Given the description of an element on the screen output the (x, y) to click on. 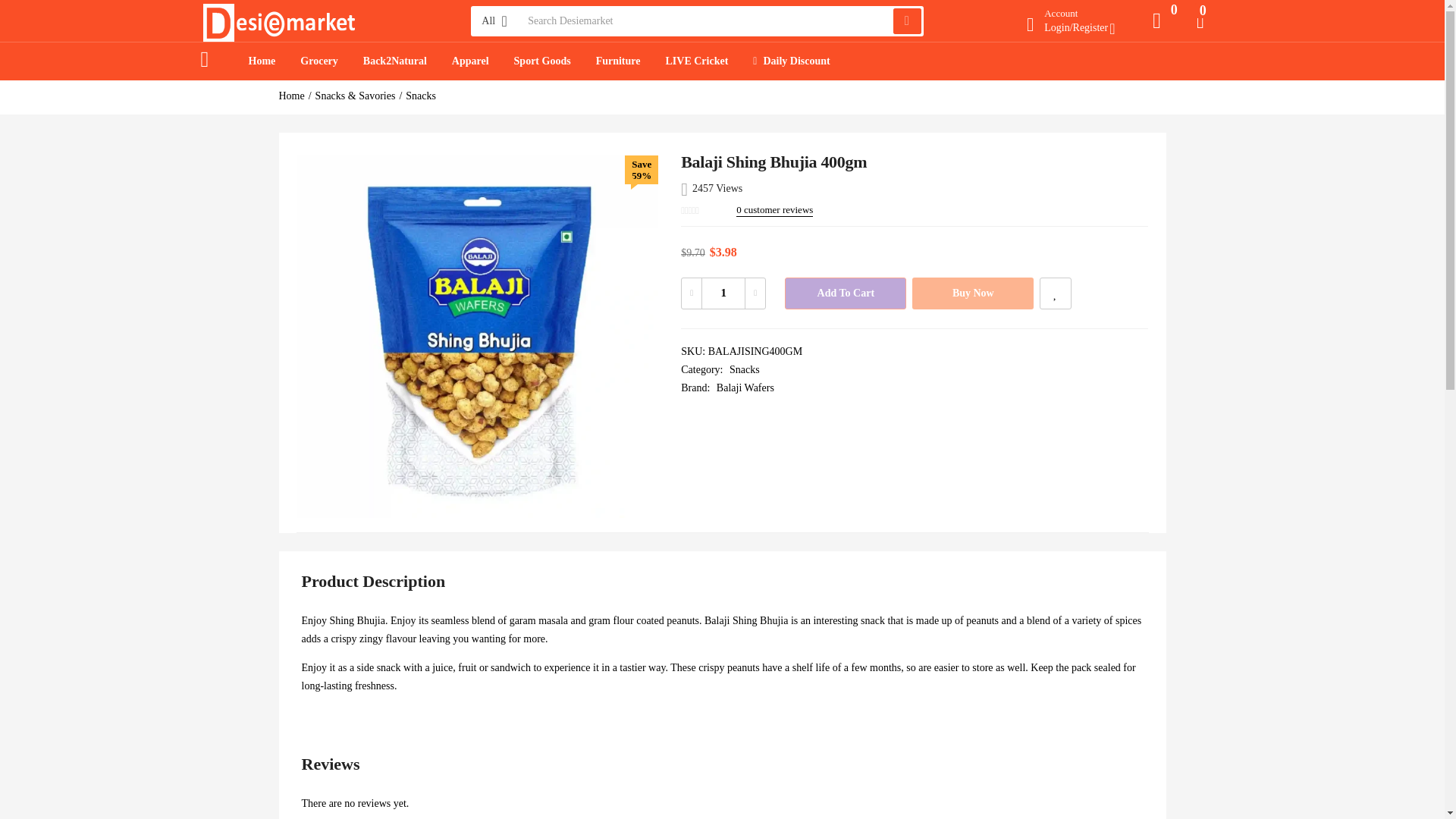
Wishlist (1055, 293)
Balaji Shing Bhujia (476, 336)
 All (495, 20)
1 (723, 293)
